Given the description of an element on the screen output the (x, y) to click on. 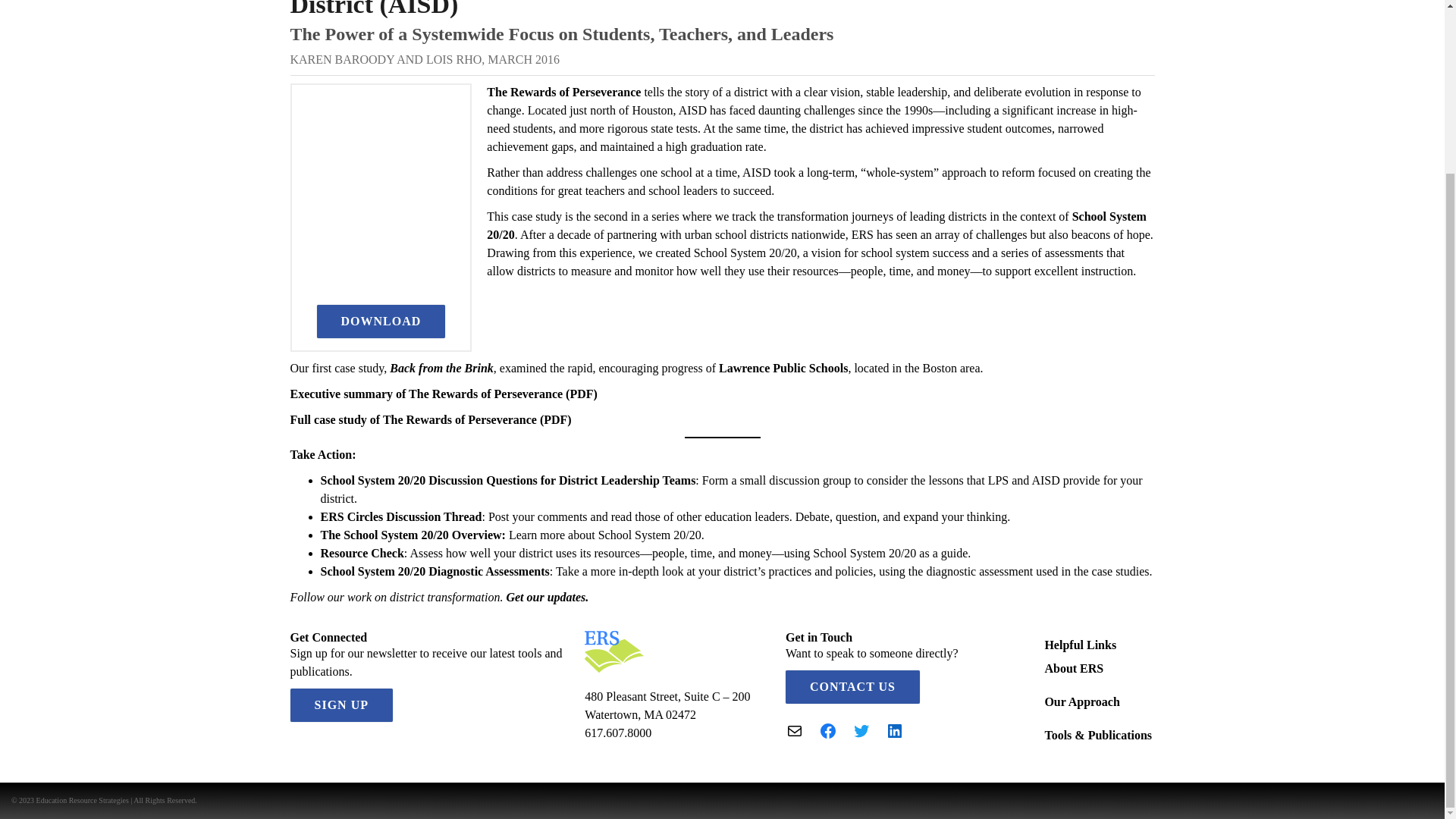
ERS Circles Discussion Thread (400, 516)
The Rewards of Perseverance (563, 91)
Link to sign up for e-newsletter (546, 596)
Back from the Brink (440, 367)
Resource Check (361, 553)
DOWNLOAD (381, 321)
